Given the description of an element on the screen output the (x, y) to click on. 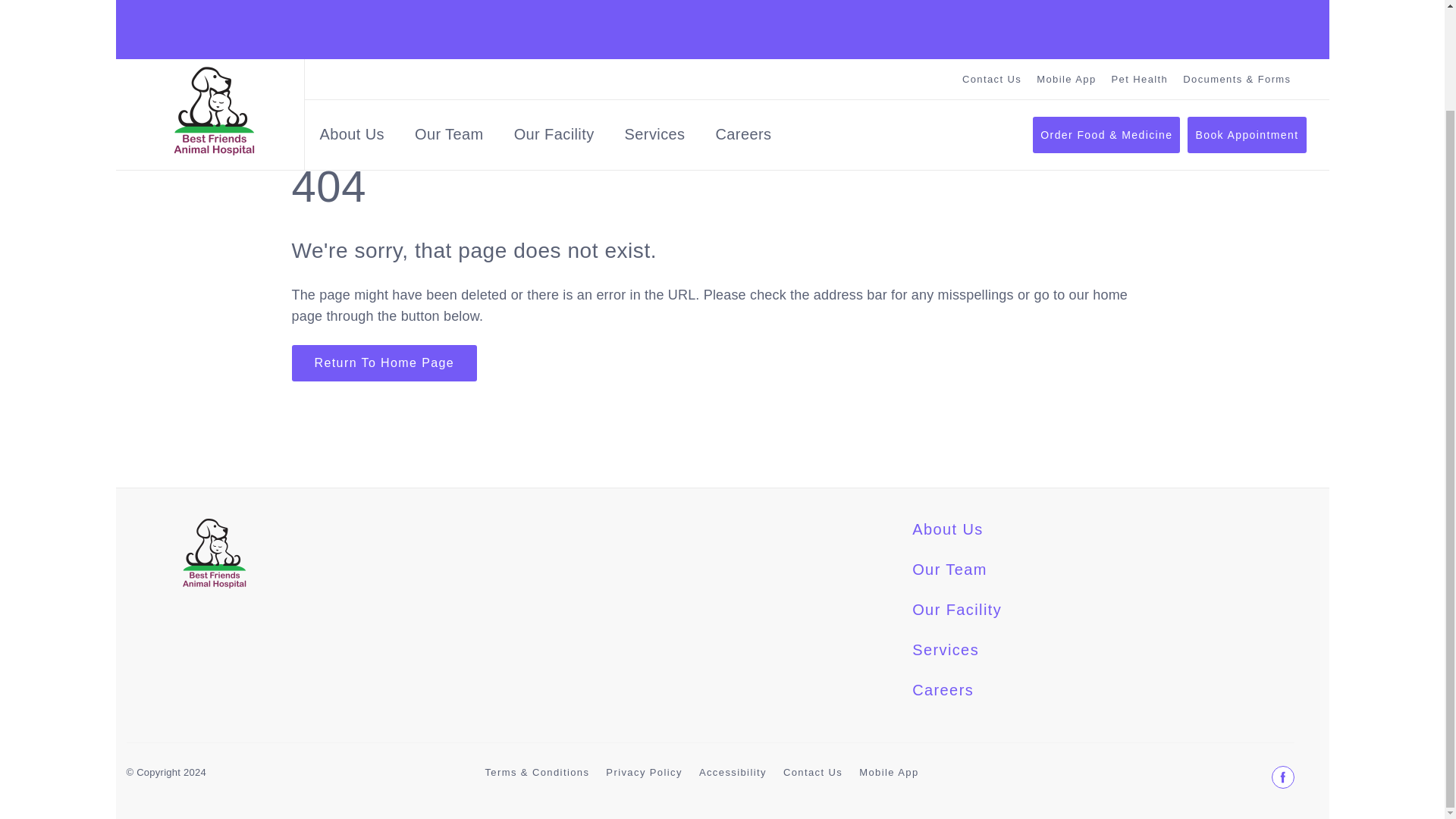
Our Team (448, 29)
Logo (213, 22)
Services (945, 664)
Book Appointment (1247, 25)
Accessibility (732, 787)
Our Facility (553, 29)
Careers	 (742, 29)
Our Team (949, 584)
About Us (352, 29)
Services (654, 29)
